Given the description of an element on the screen output the (x, y) to click on. 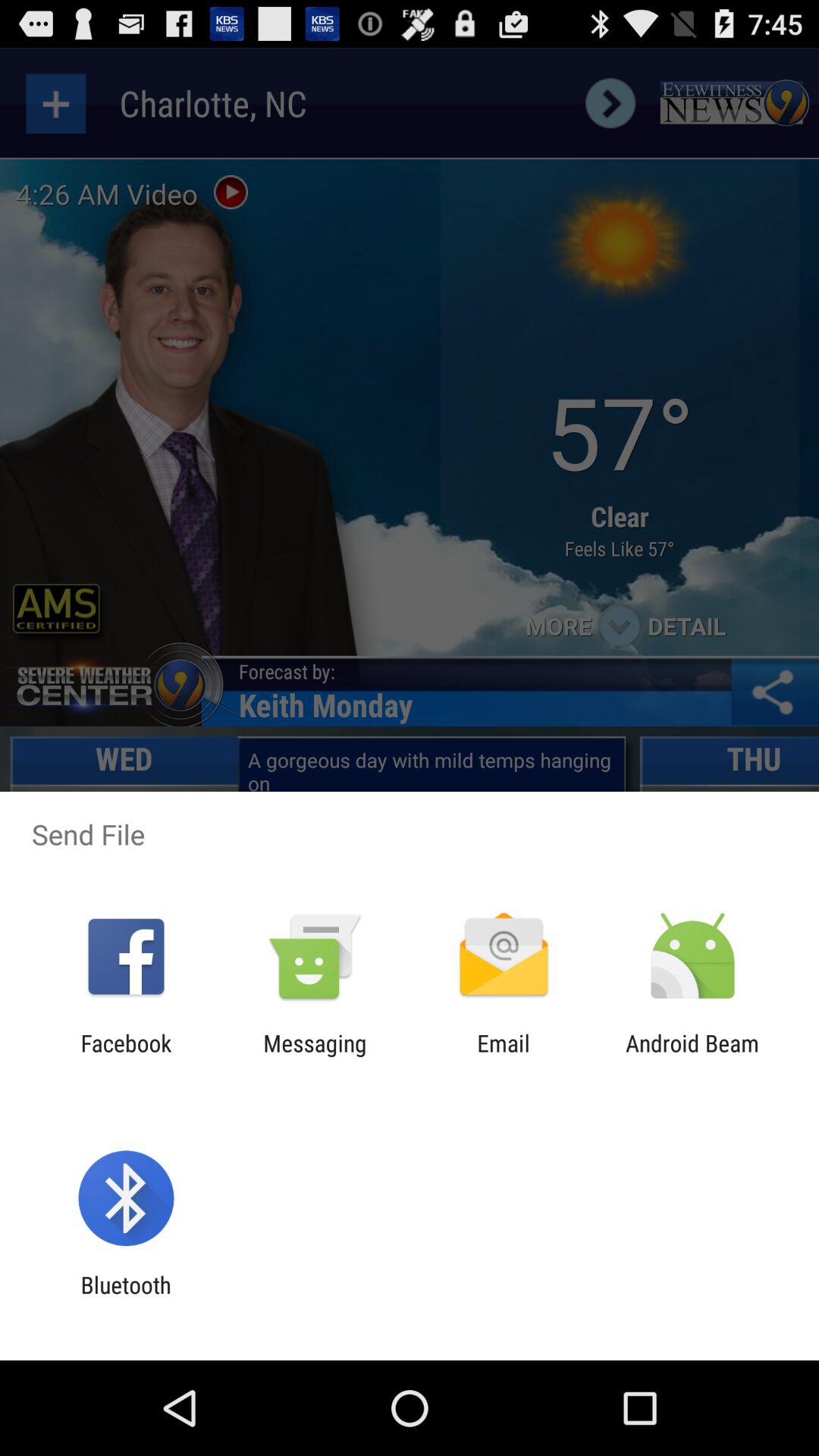
click the item next to email (692, 1056)
